Given the description of an element on the screen output the (x, y) to click on. 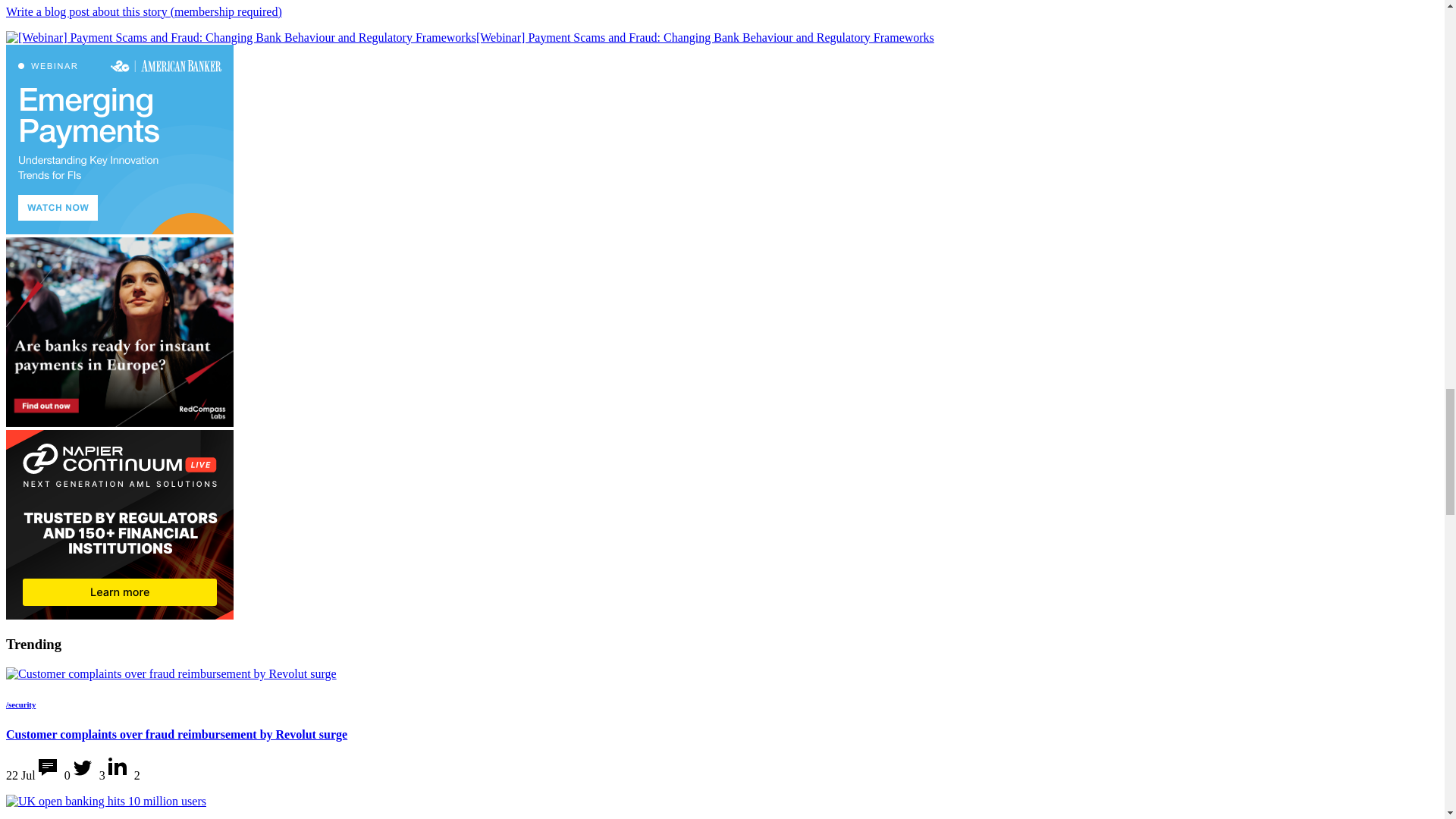
UK open banking hits 10 million users (105, 801)
UK open banking hits 10 million users (105, 800)
